Given the description of an element on the screen output the (x, y) to click on. 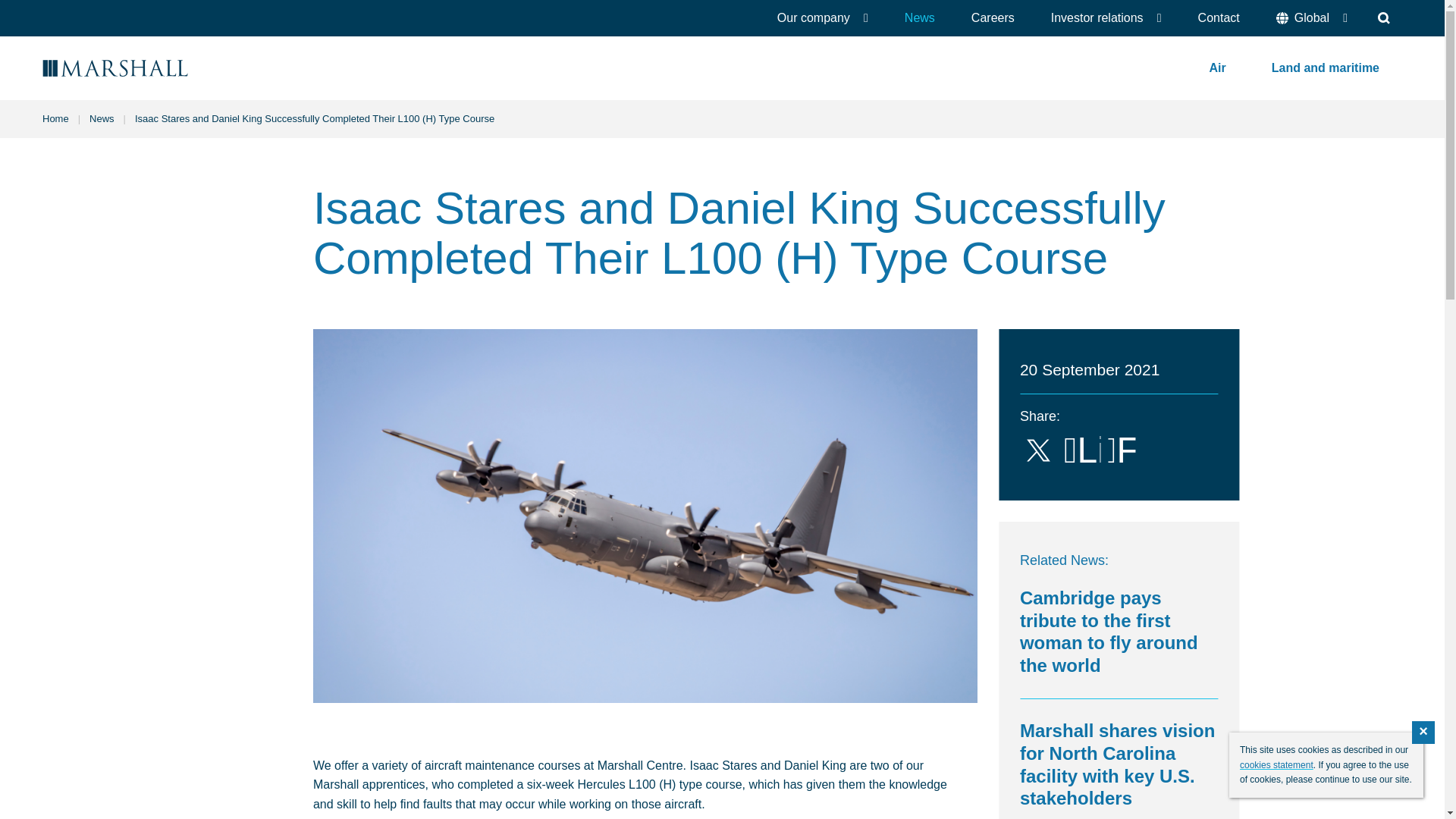
Global (1311, 18)
Air (1217, 67)
Search (1383, 18)
Marshall Group (159, 68)
Investor relations (1105, 18)
Our company (822, 18)
Contact (1218, 18)
News (919, 18)
Careers (992, 18)
